Given the description of an element on the screen output the (x, y) to click on. 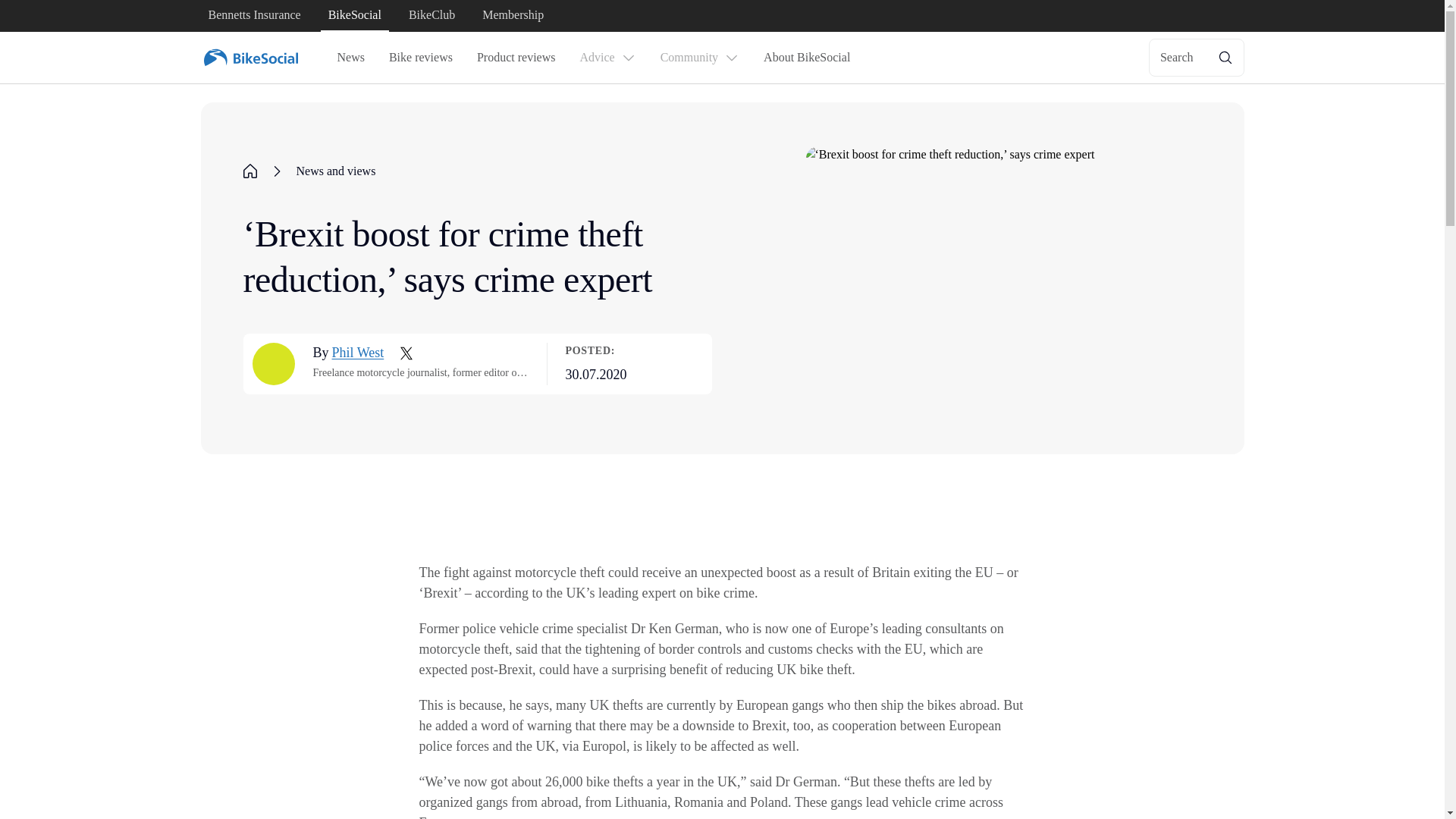
Bennetts Insurance (253, 15)
BikeClub (432, 15)
Membership (512, 15)
Community (699, 57)
Product reviews (515, 57)
Phil West (357, 353)
Bike reviews (420, 57)
News and views (335, 171)
About BikeSocial (806, 57)
Advice (607, 57)
News (349, 57)
Search (1196, 57)
BikeSocial (354, 15)
